Given the description of an element on the screen output the (x, y) to click on. 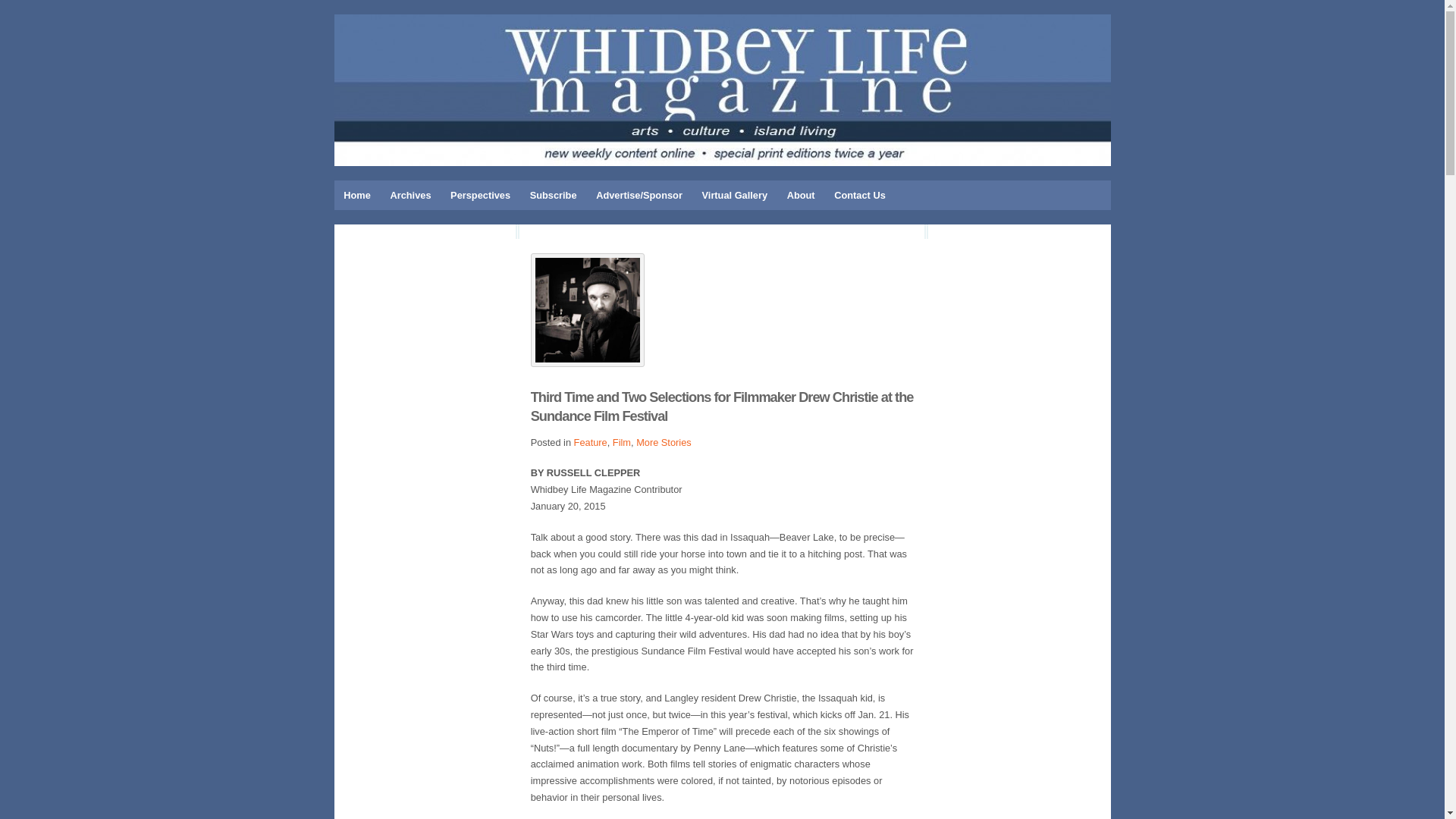
Contact Us (859, 194)
Subscribe (552, 194)
Home (356, 194)
Archives (410, 194)
Perspectives (480, 194)
About (801, 194)
Virtual Gallery (735, 194)
Feature (590, 441)
